Given the description of an element on the screen output the (x, y) to click on. 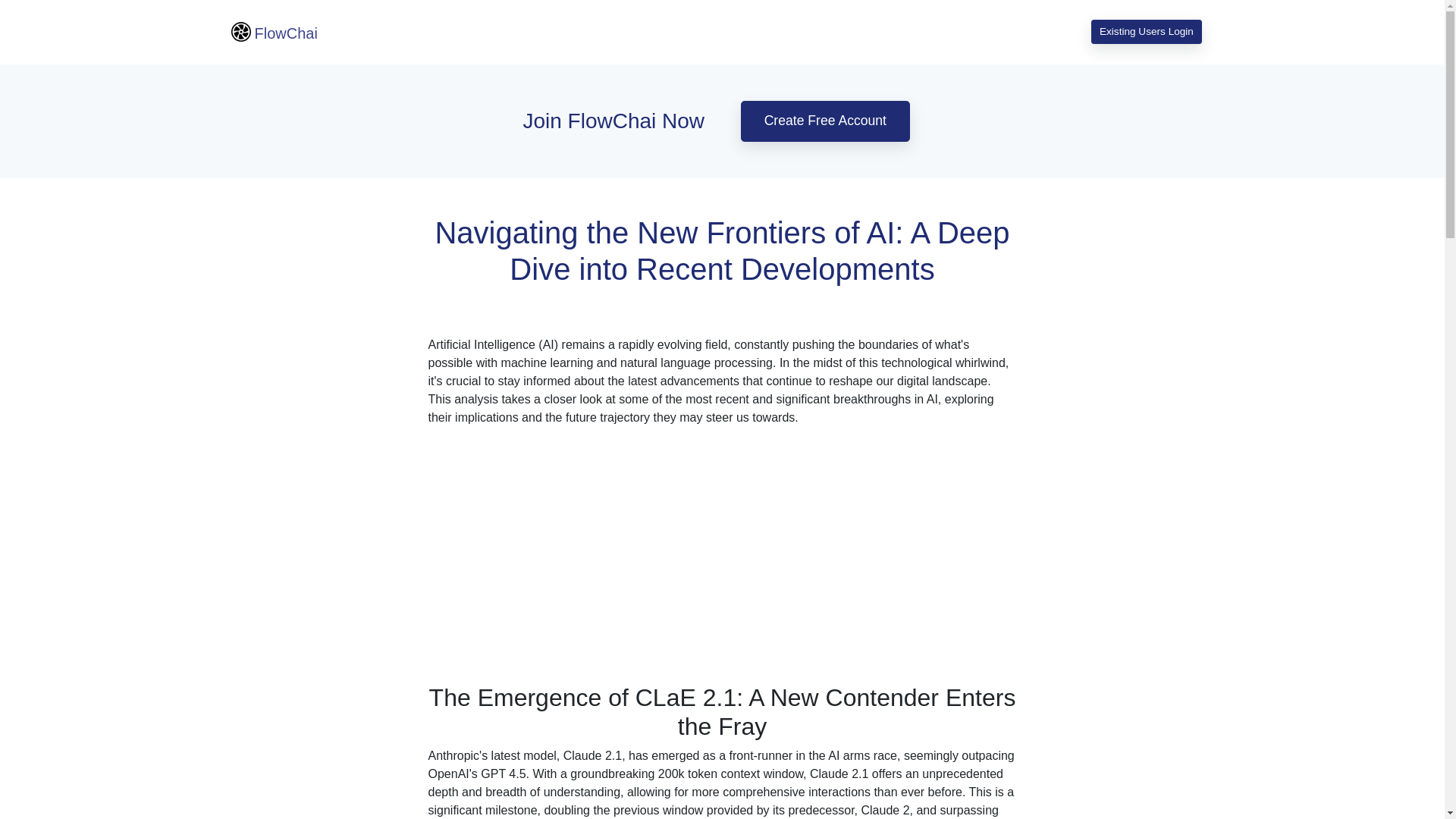
FlowChai (273, 31)
Create Free Account (825, 120)
Existing Users Login (1145, 31)
